Given the description of an element on the screen output the (x, y) to click on. 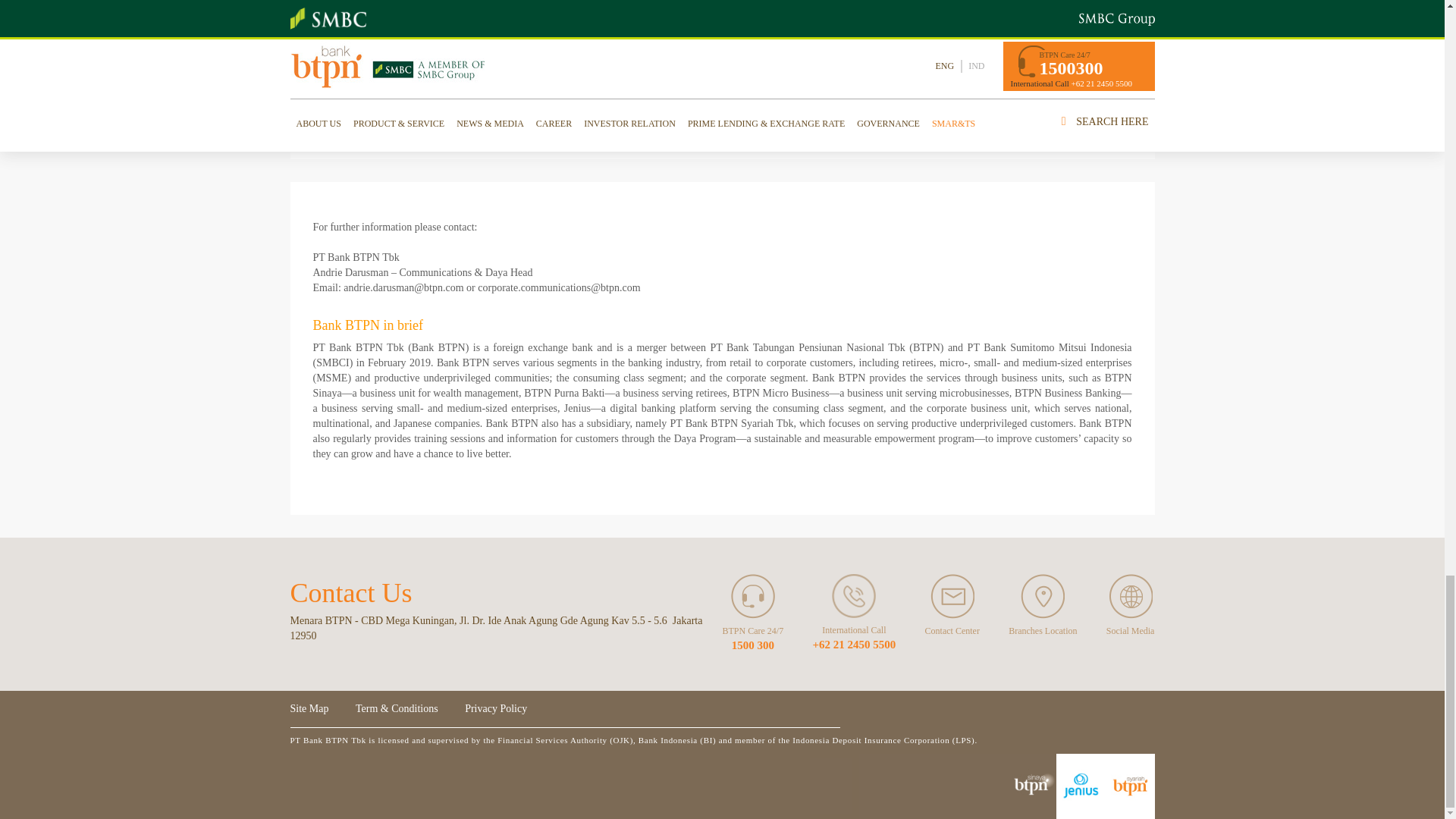
BTPN Call (853, 596)
Contact Center (952, 596)
Social Media (1130, 596)
Branches Location (1042, 596)
